Given the description of an element on the screen output the (x, y) to click on. 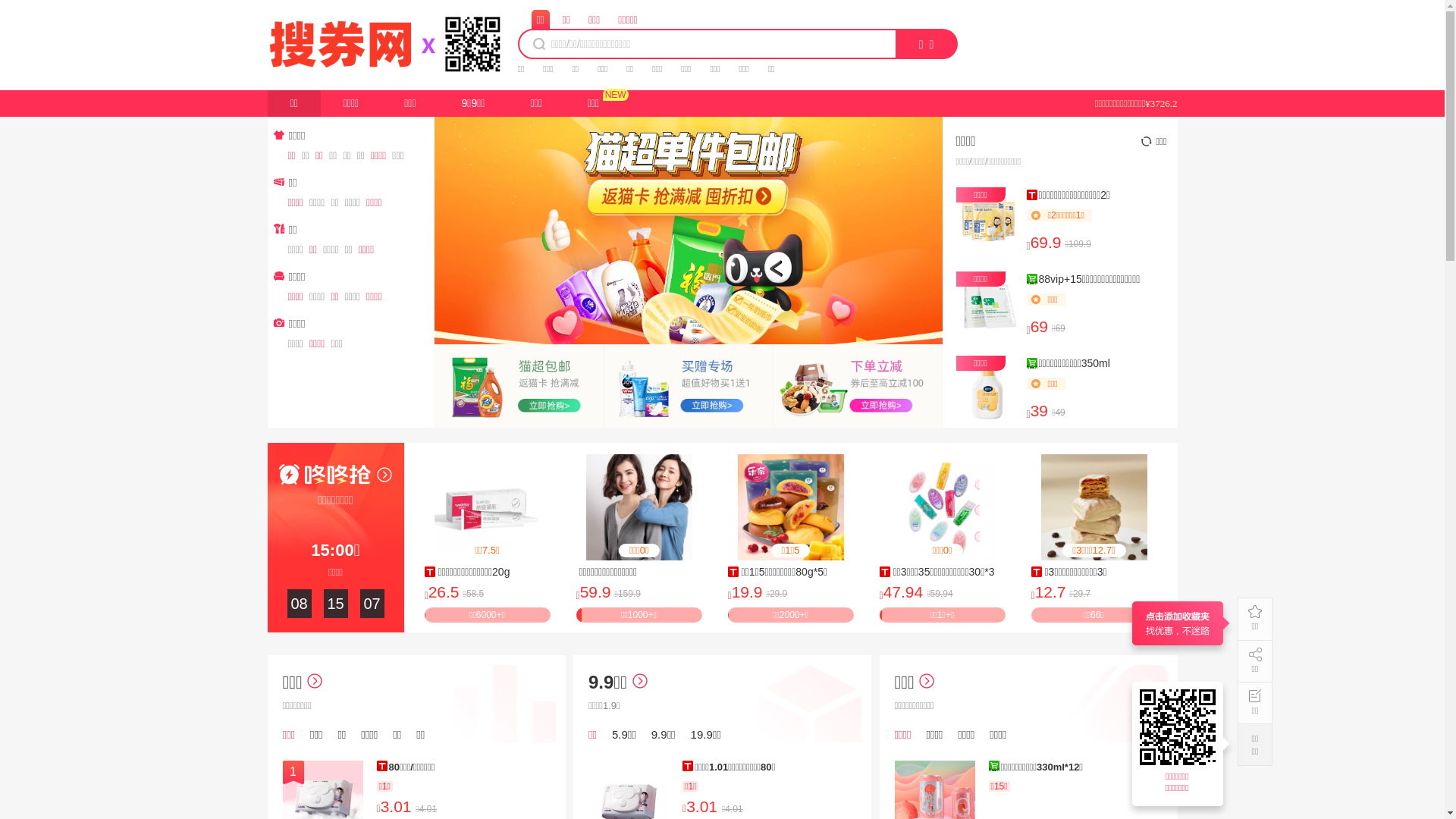
https://17.souquan.wang Element type: hover (1179, 727)
